Given the description of an element on the screen output the (x, y) to click on. 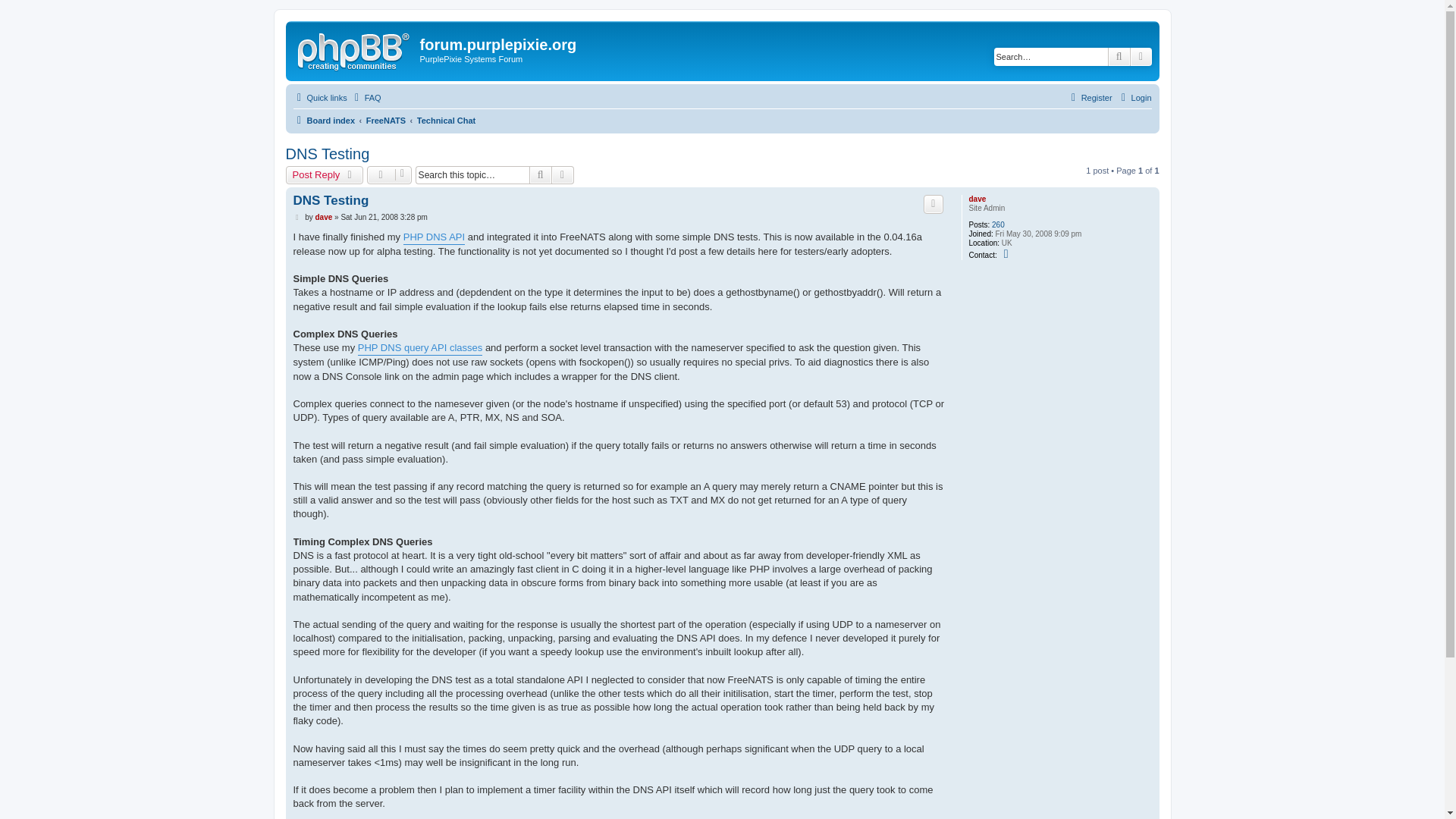
Technical Chat (446, 120)
Frequently Asked Questions (365, 97)
Search (1119, 56)
Quote (933, 203)
FreeNATS (386, 120)
Search (1119, 56)
Advanced search (1141, 56)
Post (297, 216)
FreeNATS (386, 120)
dave (322, 216)
Quick links (319, 97)
Technical Chat (446, 120)
dave (976, 198)
Contact dave (1006, 254)
Advanced search (562, 175)
